Given the description of an element on the screen output the (x, y) to click on. 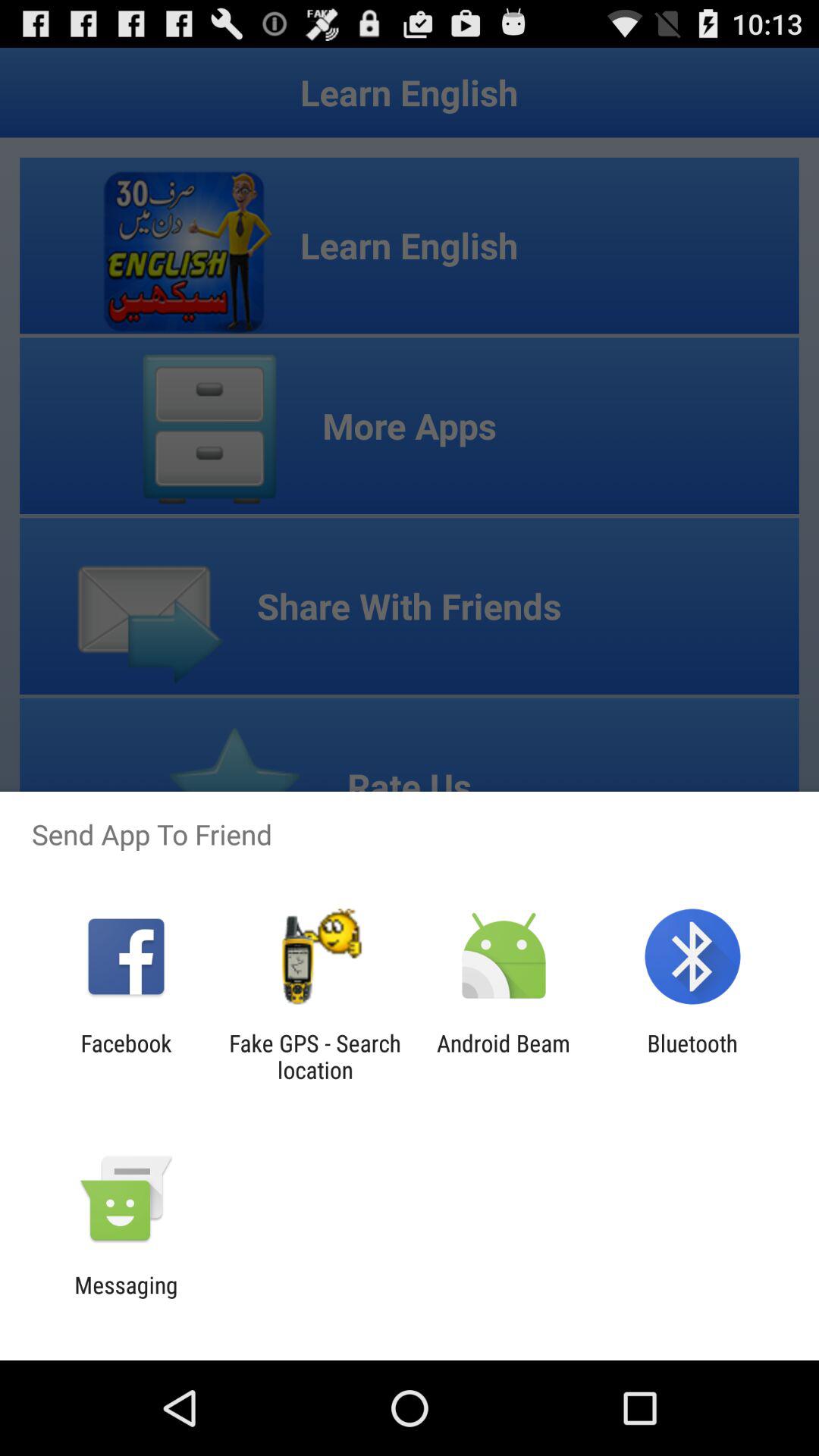
click app next to the bluetooth icon (503, 1056)
